Given the description of an element on the screen output the (x, y) to click on. 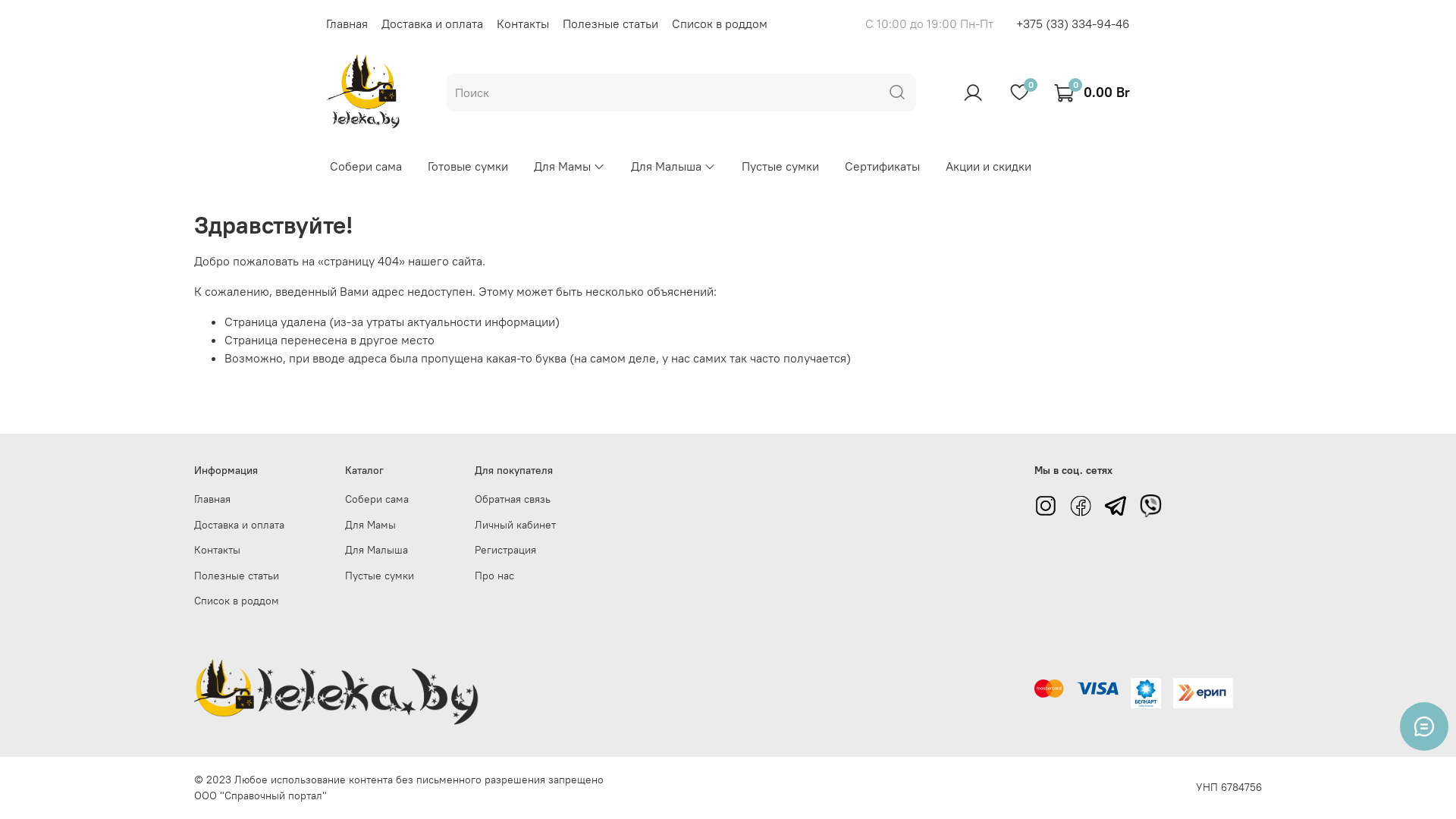
0 Element type: text (1019, 92)
0
0.00 Br Element type: text (1091, 92)
+375 (33) 334-94-46 Element type: text (1072, 23)
